Given the description of an element on the screen output the (x, y) to click on. 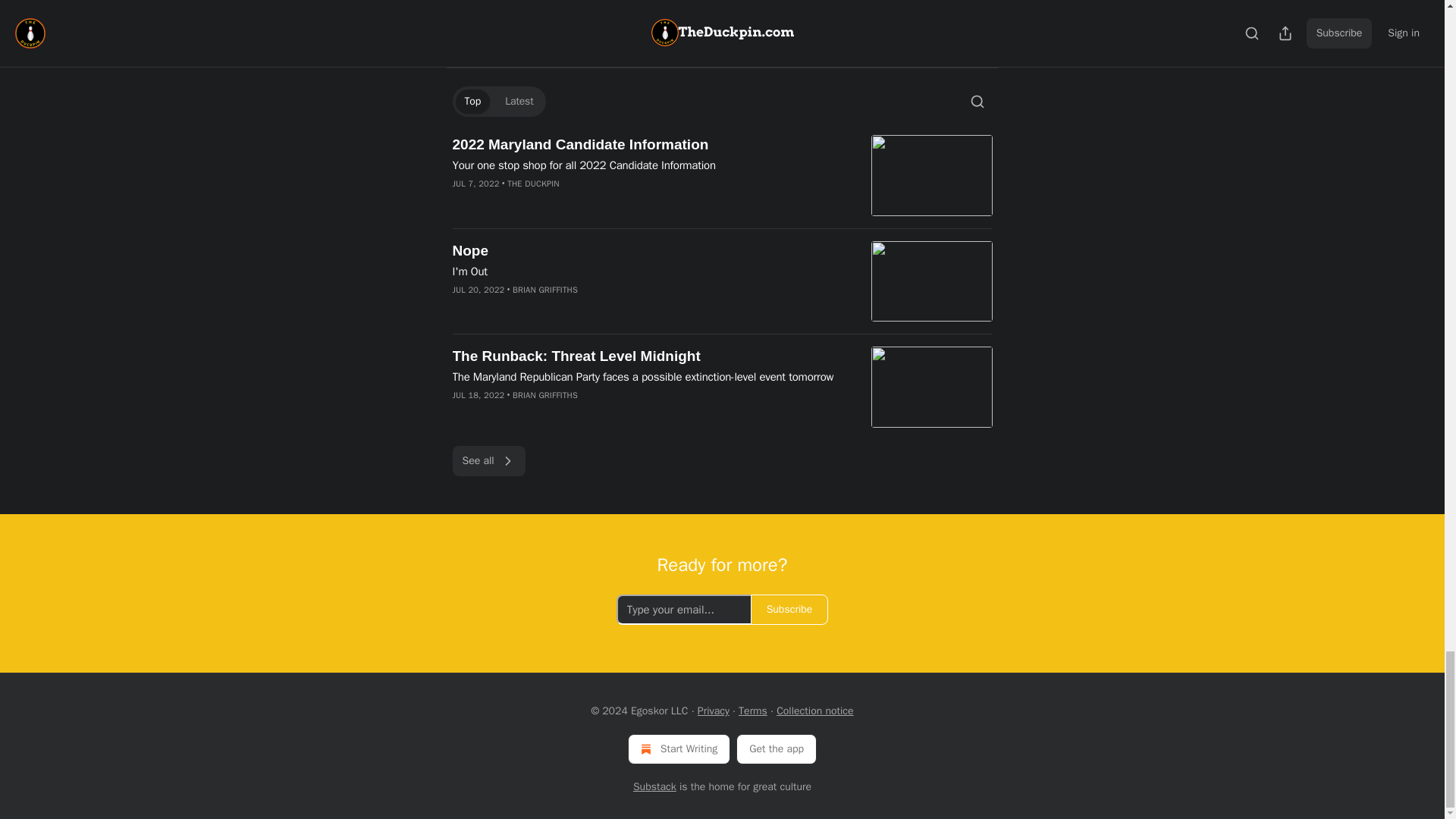
Top (471, 101)
Share (970, 40)
Your one stop shop for all 2022 Candidate Information (651, 165)
Latest (518, 101)
2022 Maryland Candidate Information (651, 144)
